Given the description of an element on the screen output the (x, y) to click on. 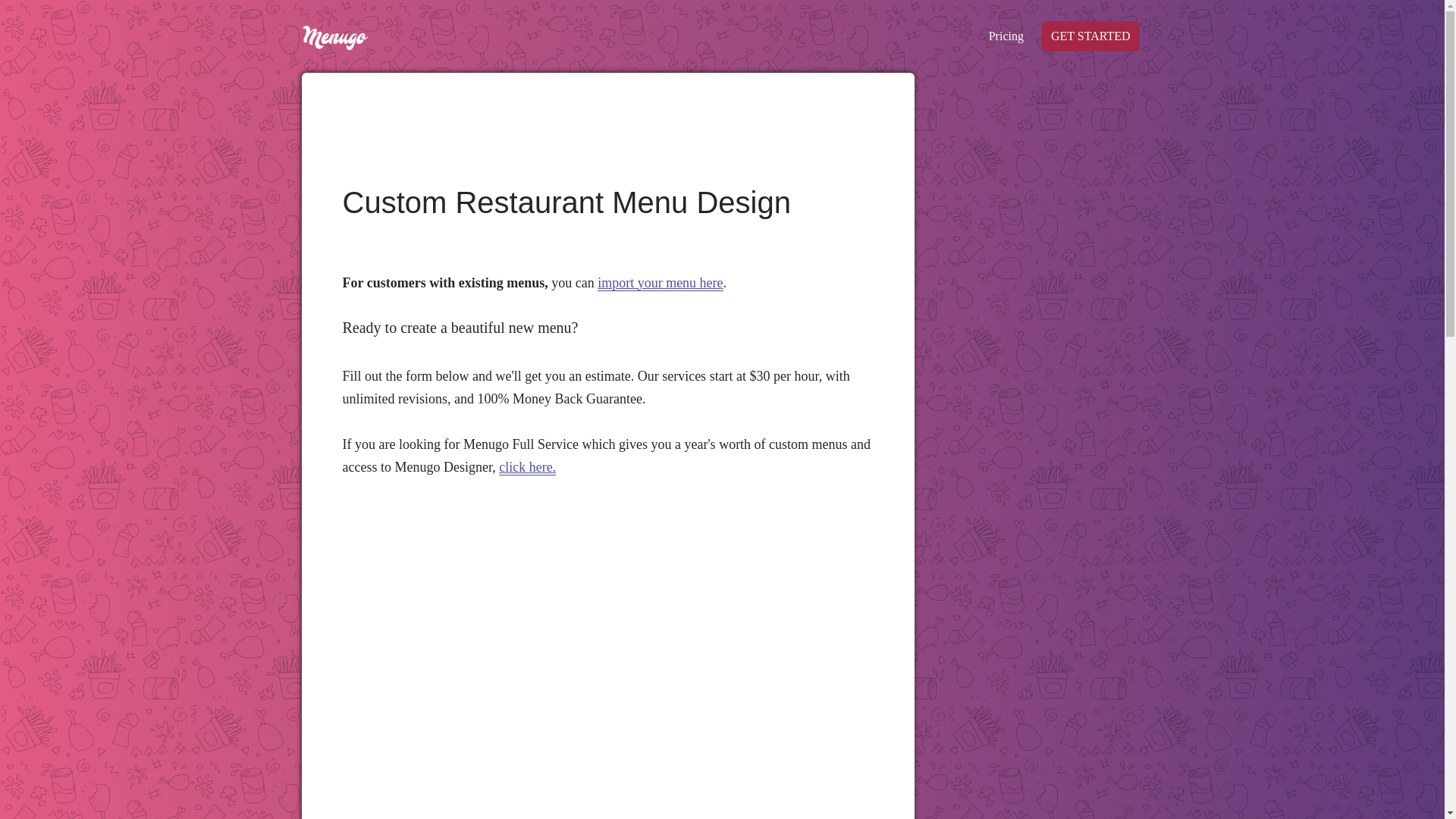
click here. (527, 467)
GET STARTED (1091, 36)
import your menu here (659, 283)
Pricing (1005, 36)
A year of custom menu design for your restaurant (527, 467)
Import an existing menu (659, 283)
